Given the description of an element on the screen output the (x, y) to click on. 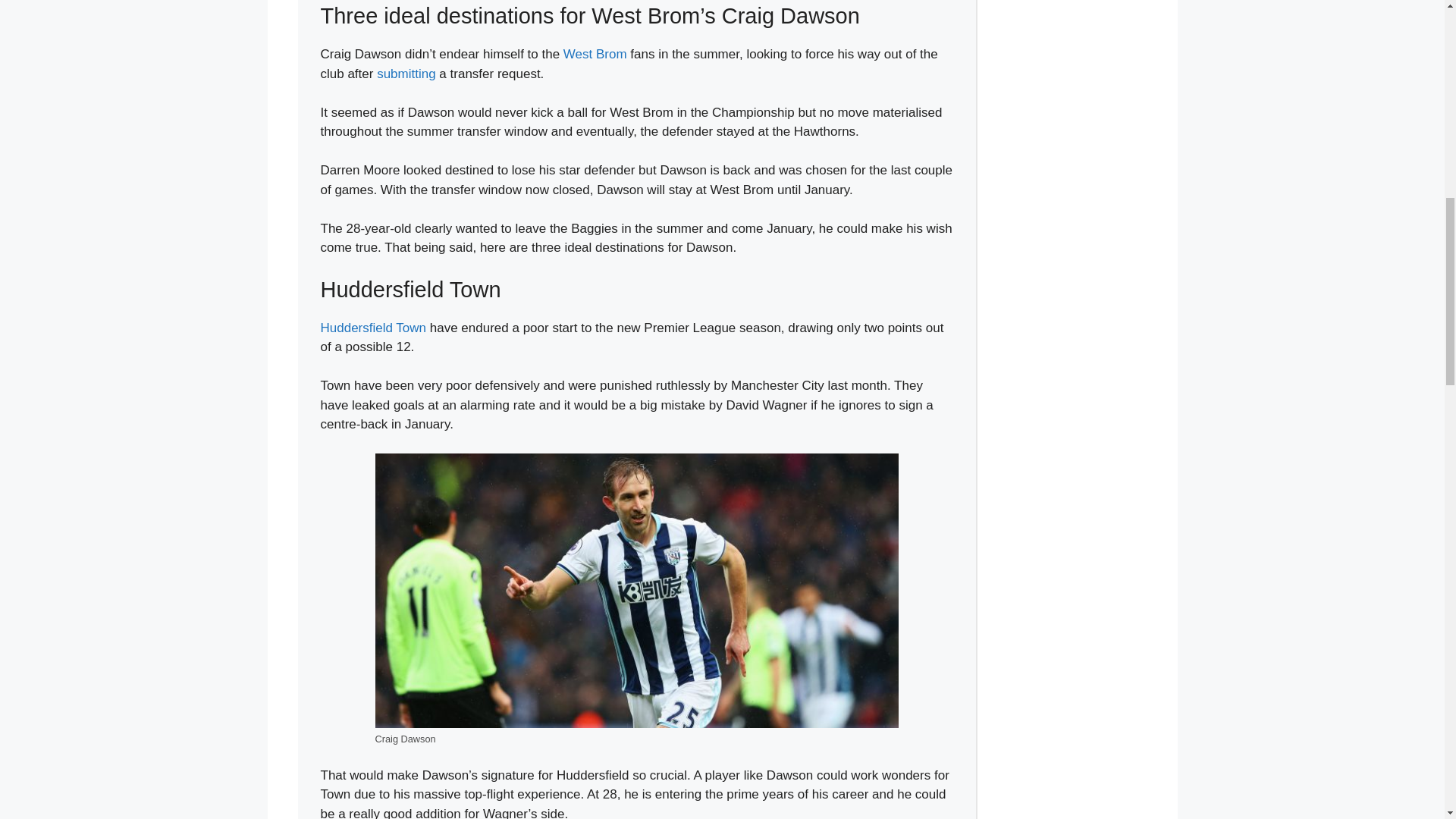
Huddersfield Town (373, 327)
West Brom (595, 53)
submitting (406, 73)
